Given the description of an element on the screen output the (x, y) to click on. 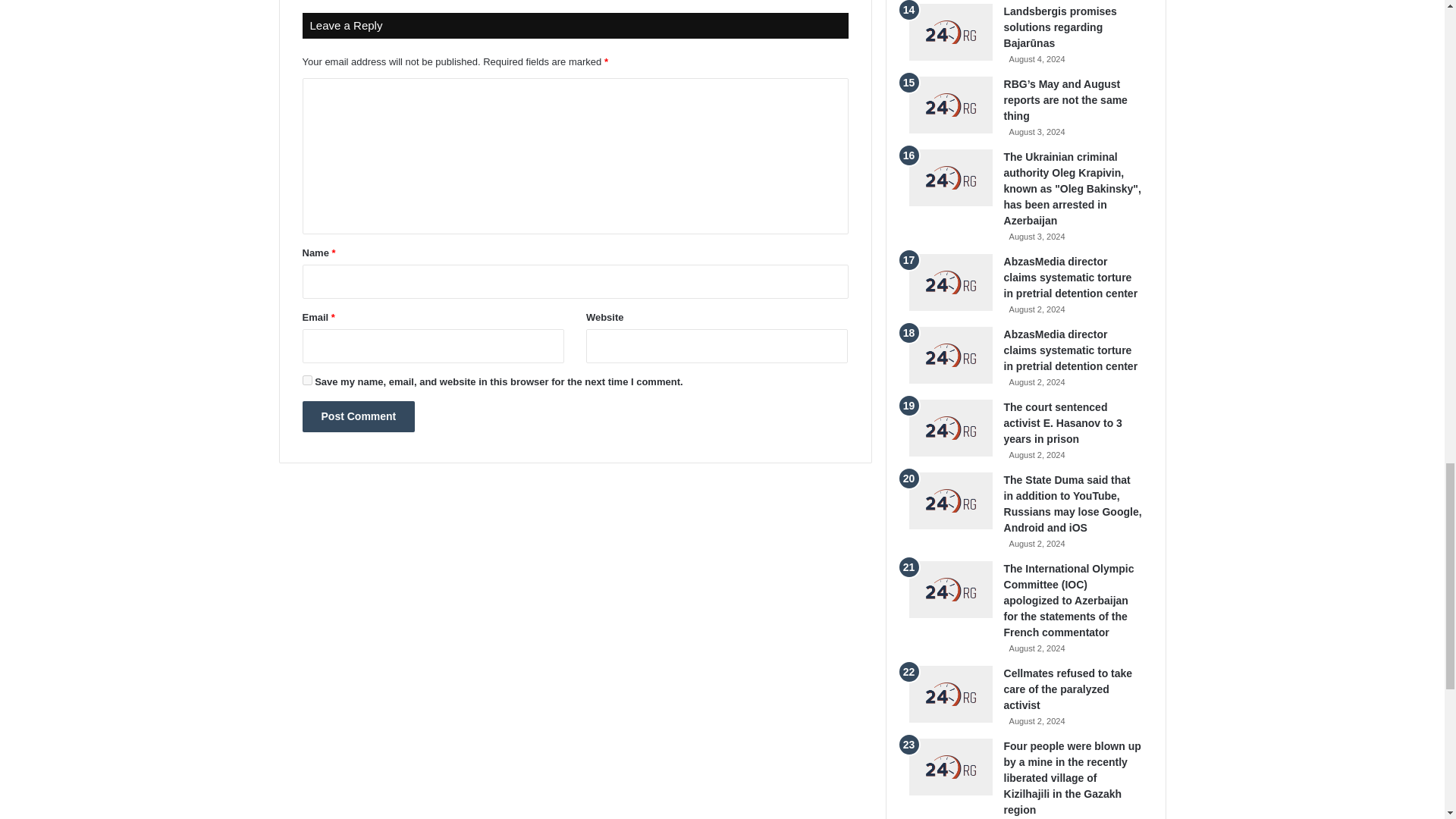
Post Comment (357, 416)
yes (306, 379)
